Given the description of an element on the screen output the (x, y) to click on. 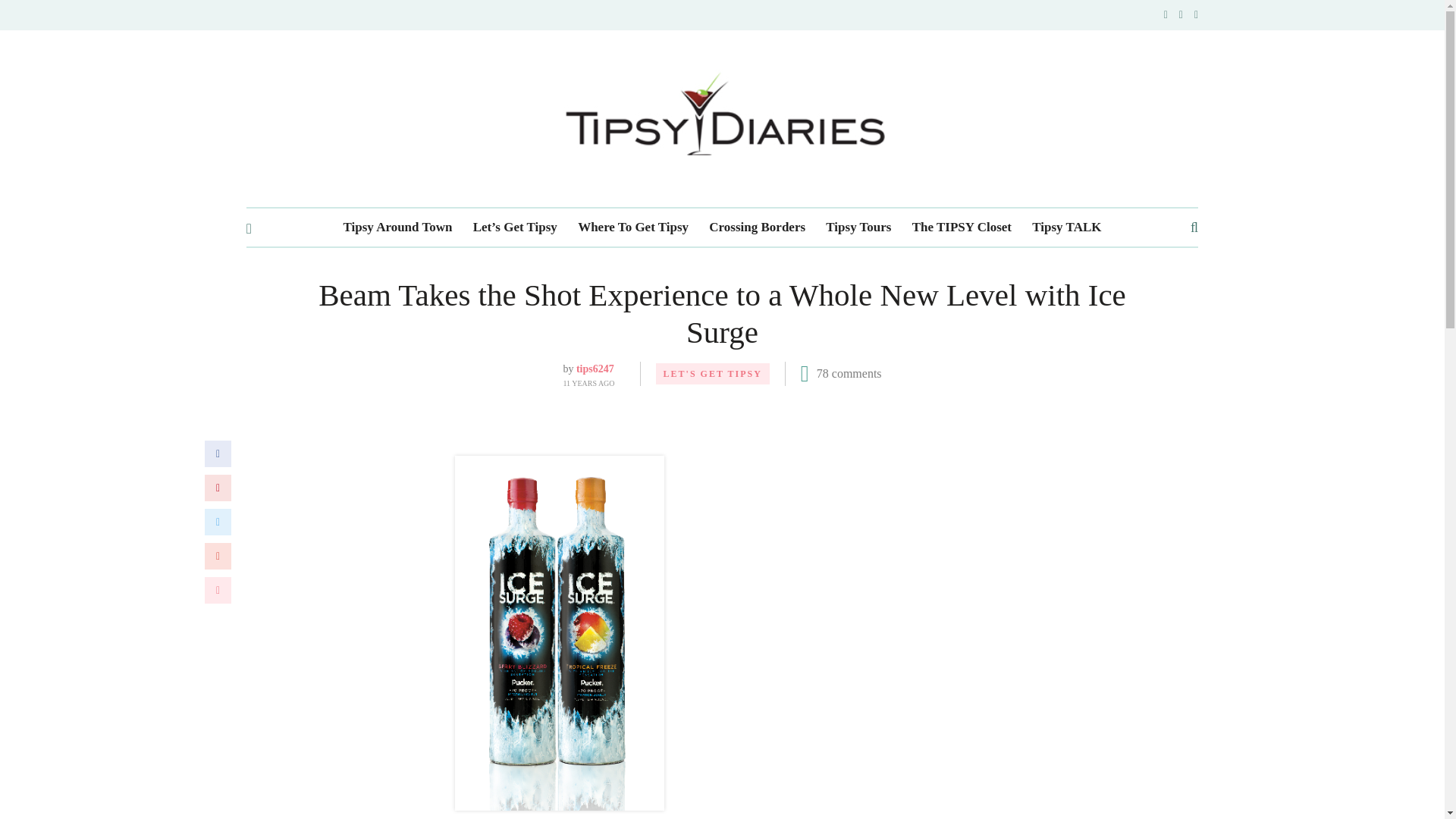
tips6247 (595, 368)
78 comments (849, 373)
Tipsy Tours (858, 227)
Where To Get Tipsy (633, 227)
Tipsy TALK (1066, 227)
Crossing Borders (757, 227)
LET'S GET TIPSY (713, 373)
Tipsy Around Town (397, 227)
The TIPSY Closet (961, 227)
Tipsy Diaries (722, 118)
